Given the description of an element on the screen output the (x, y) to click on. 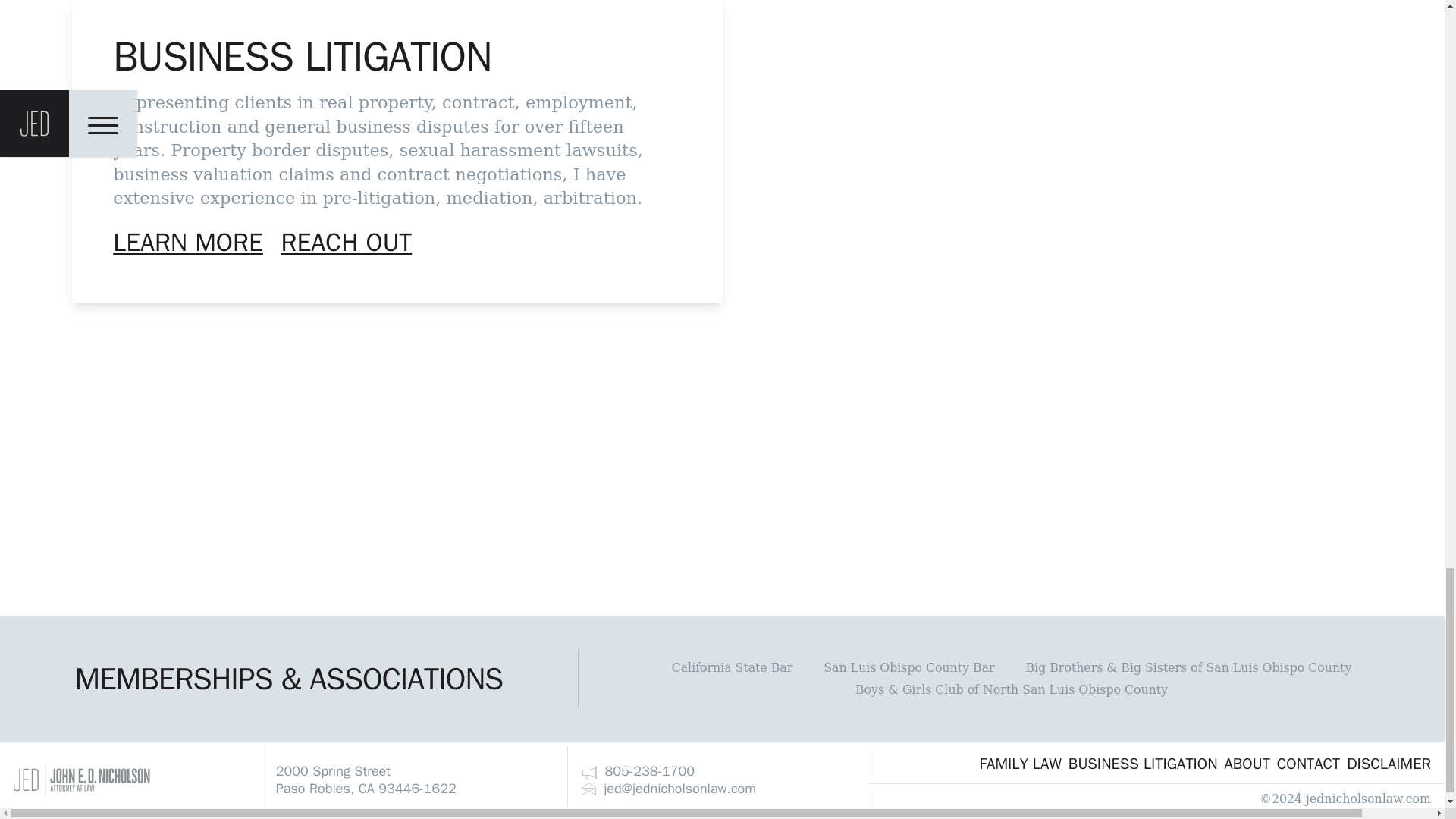
ABOUT (1246, 762)
CONTACT (1307, 762)
805-238-1700 (637, 770)
California State Bar (732, 667)
REACH OUT (346, 242)
San Luis Obispo County Bar (909, 667)
BUSINESS LITIGATION (1142, 762)
LEARN MORE (188, 242)
FAMILY LAW (1019, 762)
DISCLAIMER (1388, 762)
